Given the description of an element on the screen output the (x, y) to click on. 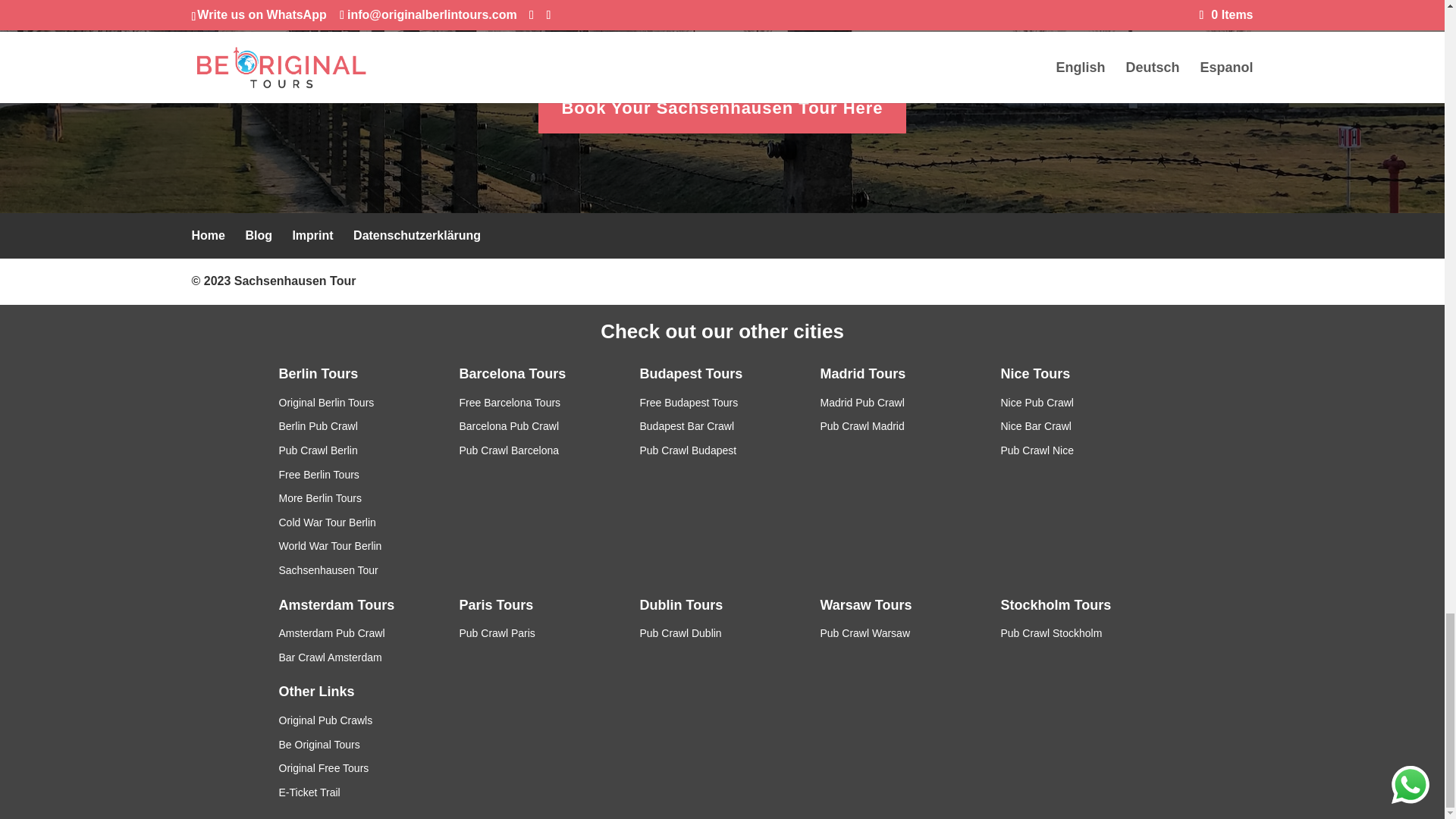
Home (207, 235)
Free Berlin Tours (319, 474)
Pub Crawl Berlin (318, 450)
Original Berlin Tours (326, 402)
Sachsenhausen Tour (295, 280)
Blog (258, 235)
Book Your Sachsenhausen Tour Here (721, 107)
Berlin Pub Crawl (318, 426)
Imprint (312, 235)
